Given the description of an element on the screen output the (x, y) to click on. 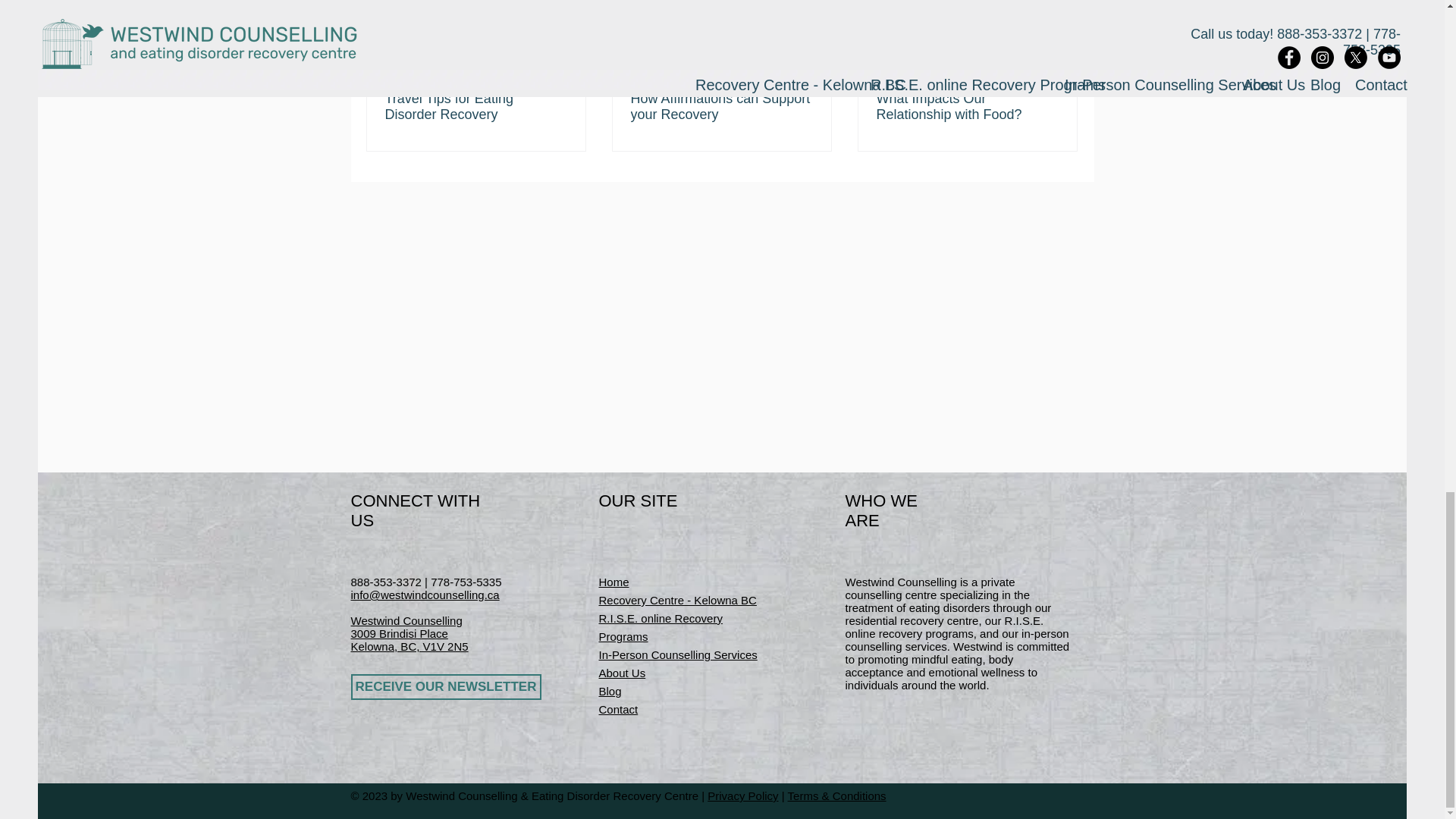
Travel Tips for Eating Disorder Recovery (476, 106)
How Affirmations can Support your Recovery (721, 106)
Blog (609, 690)
In-Person Counselling Services (677, 654)
Recovery Centre - Kelowna BC (677, 599)
What Impacts Our Relationship with Food? (967, 106)
Home (613, 581)
CONNECT WITH US (415, 510)
About Us (622, 672)
R.I.S.E. online Recovery Programs (660, 626)
